Given the description of an element on the screen output the (x, y) to click on. 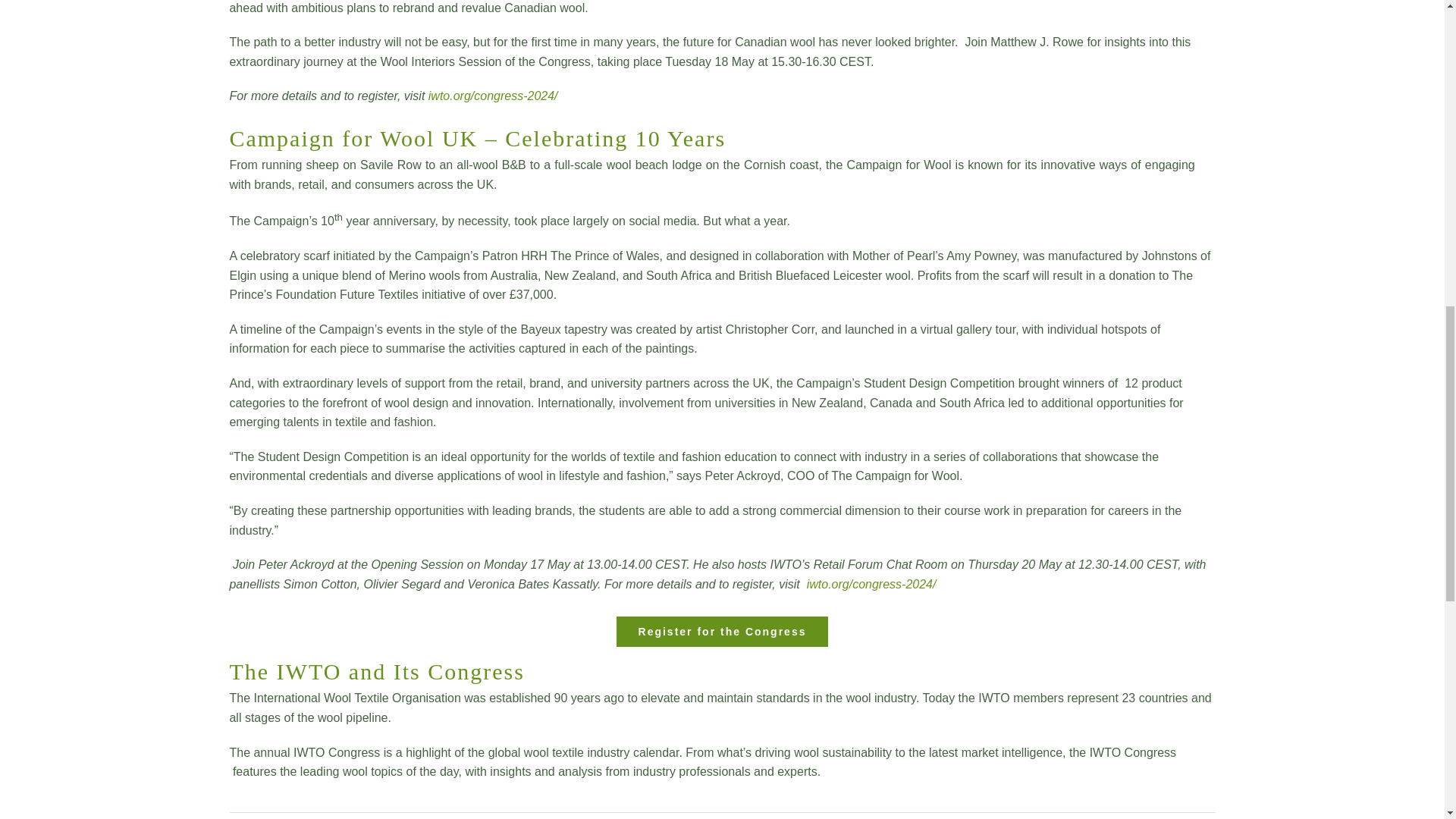
Register for the Congress (721, 631)
Posts by Jeannette Cook (274, 818)
Jeannette Cook (274, 818)
